Given the description of an element on the screen output the (x, y) to click on. 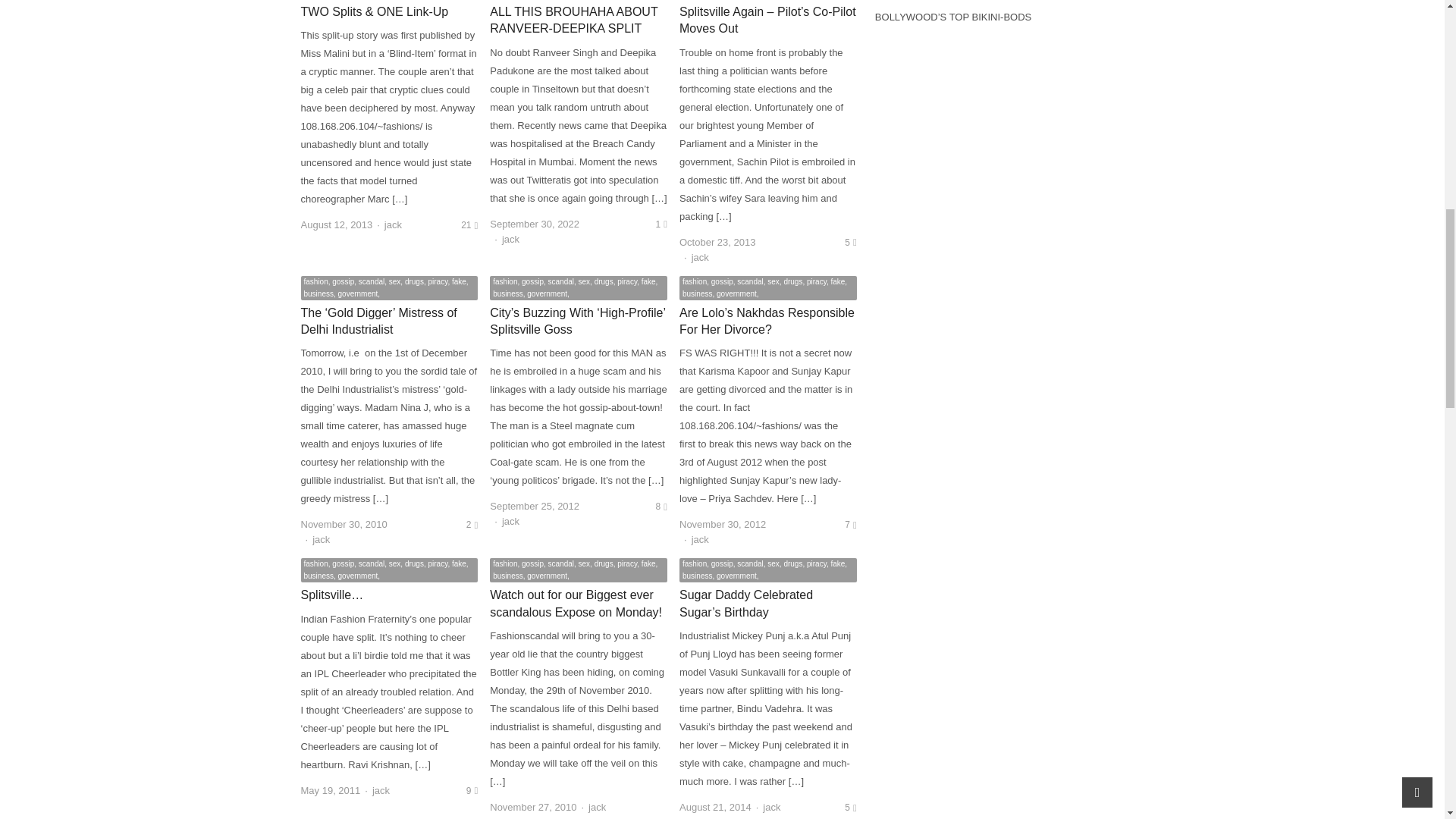
jack (510, 238)
jack (510, 521)
1 (661, 224)
5 (850, 242)
Comment on ALL THIS BROUHAHA ABOUT RANVEER-DEEPIKA SPLIT (661, 224)
jack (392, 224)
ALL THIS BROUHAHA ABOUT RANVEER-DEEPIKA SPLIT (573, 19)
2 (471, 524)
